Given the description of an element on the screen output the (x, y) to click on. 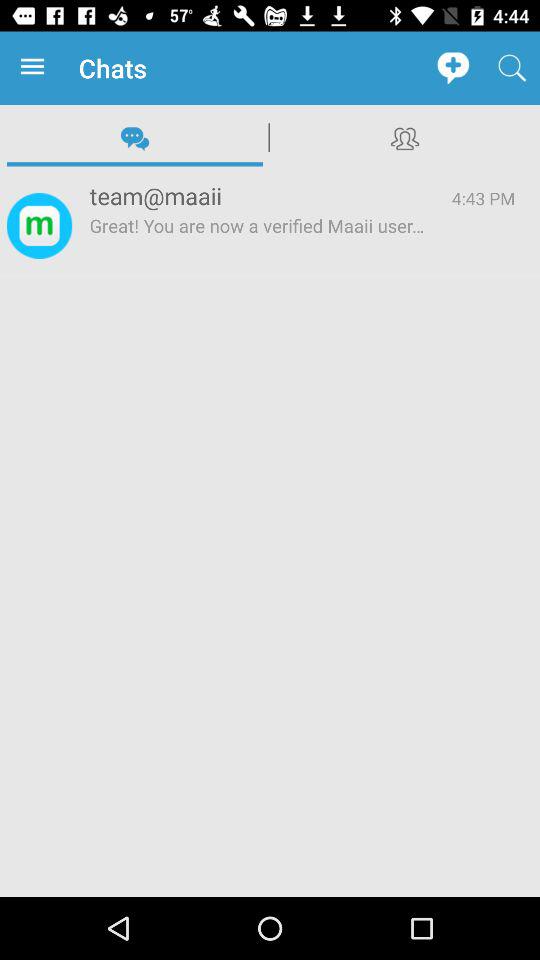
click icon below team@maaii (258, 245)
